Given the description of an element on the screen output the (x, y) to click on. 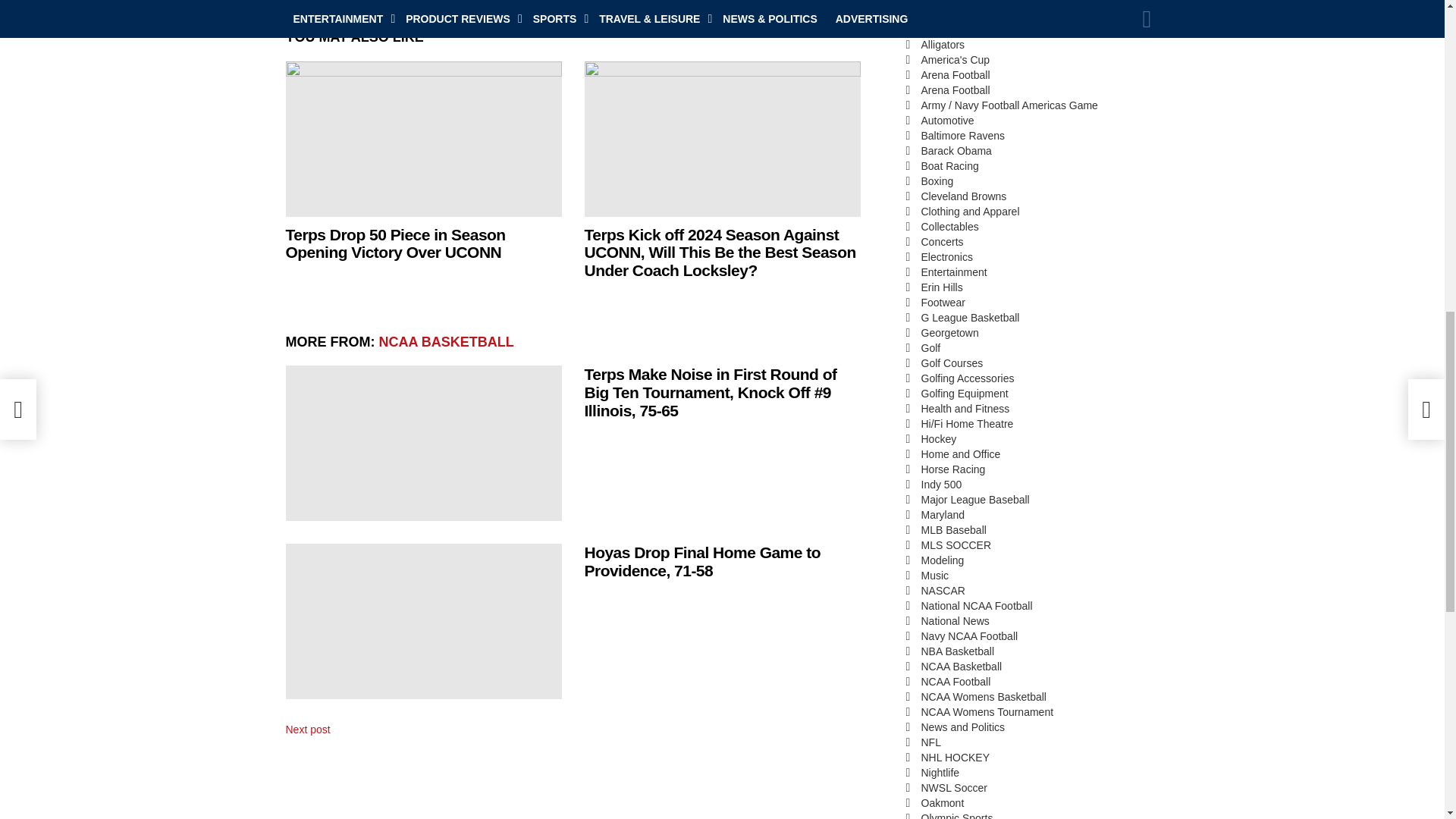
Hoyas Drop Final Home Game to Providence, 71-58 (422, 621)
Terps Drop 50 Piece in Season Opening Victory Over UCONN (422, 139)
